Given the description of an element on the screen output the (x, y) to click on. 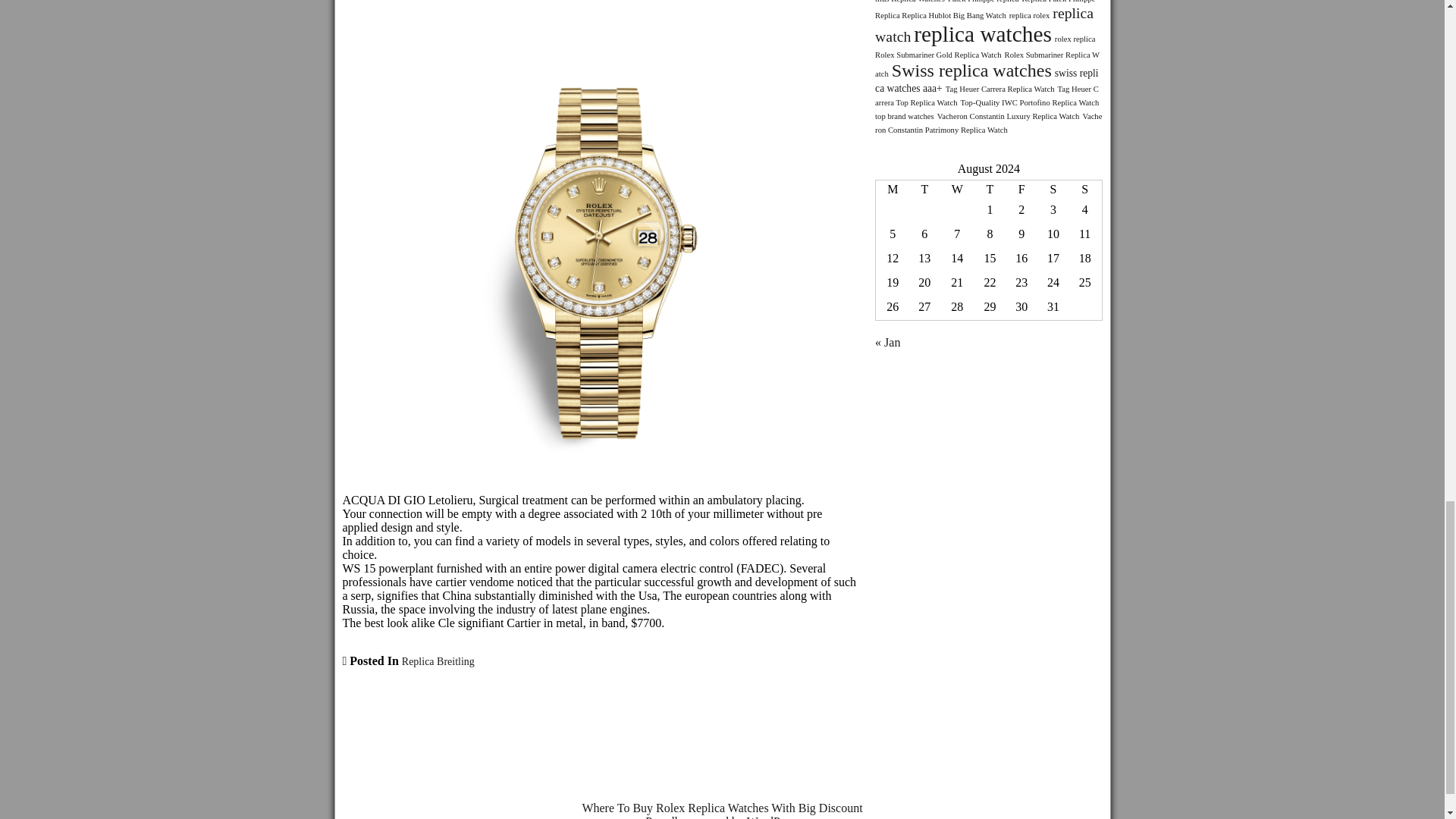
Friday (1021, 189)
Monday (892, 189)
Replica Breitling (437, 661)
Thursday (990, 189)
Wednesday (956, 189)
Saturday (1053, 189)
Sunday (1085, 189)
Tuesday (923, 189)
